Given the description of an element on the screen output the (x, y) to click on. 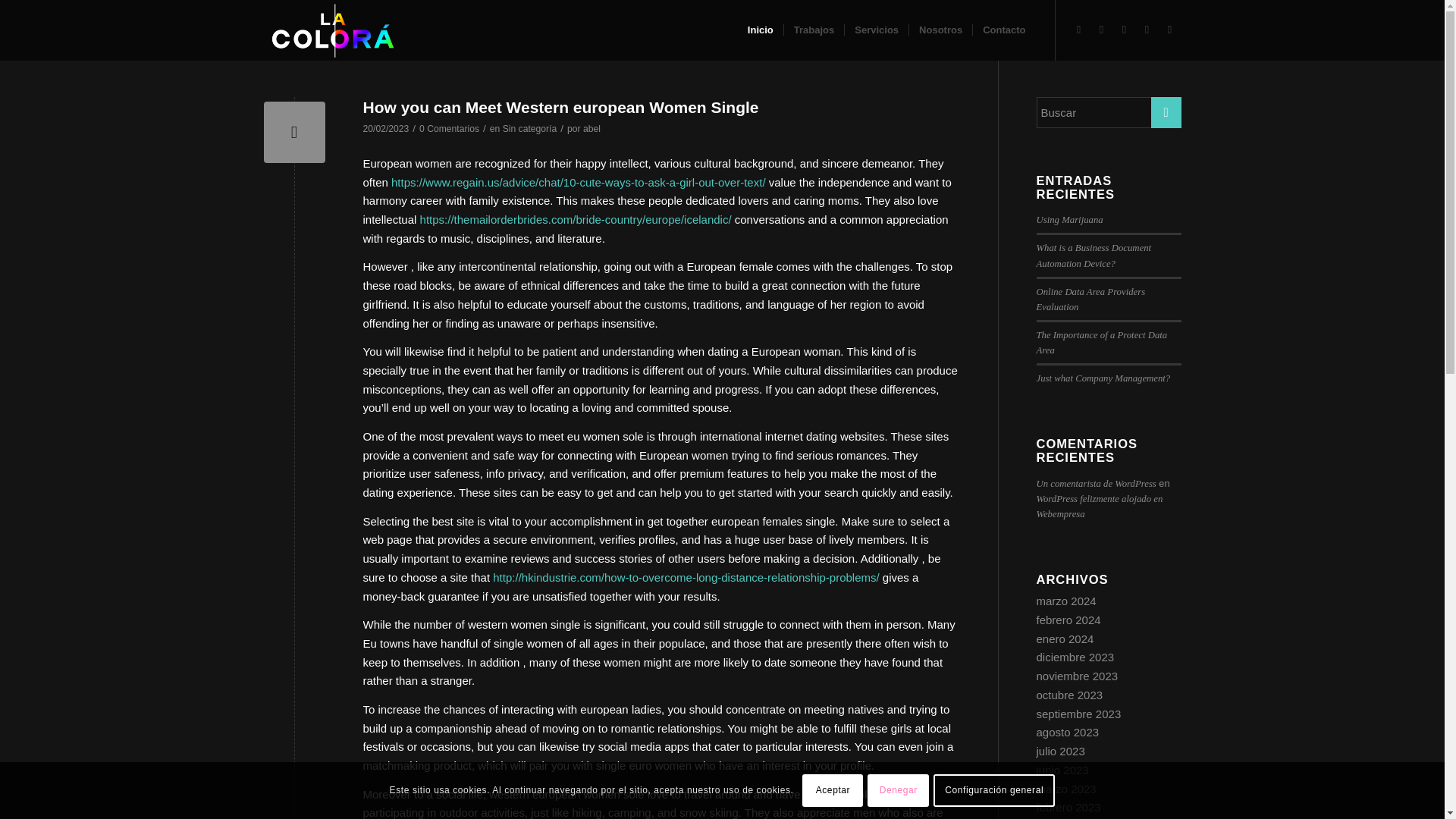
What is a Business Document Automation Device? (1093, 255)
diciembre 2023 (1074, 656)
Vimeo (1124, 29)
How you can Meet Western european Women Single (560, 107)
LinkedIn (1078, 29)
enero 2024 (1064, 638)
Servicios (876, 30)
WordPress felizmente alojado en Webempresa (1098, 506)
Online Data Area Providers Evaluation (1089, 299)
Facebook (1169, 29)
